Given the description of an element on the screen output the (x, y) to click on. 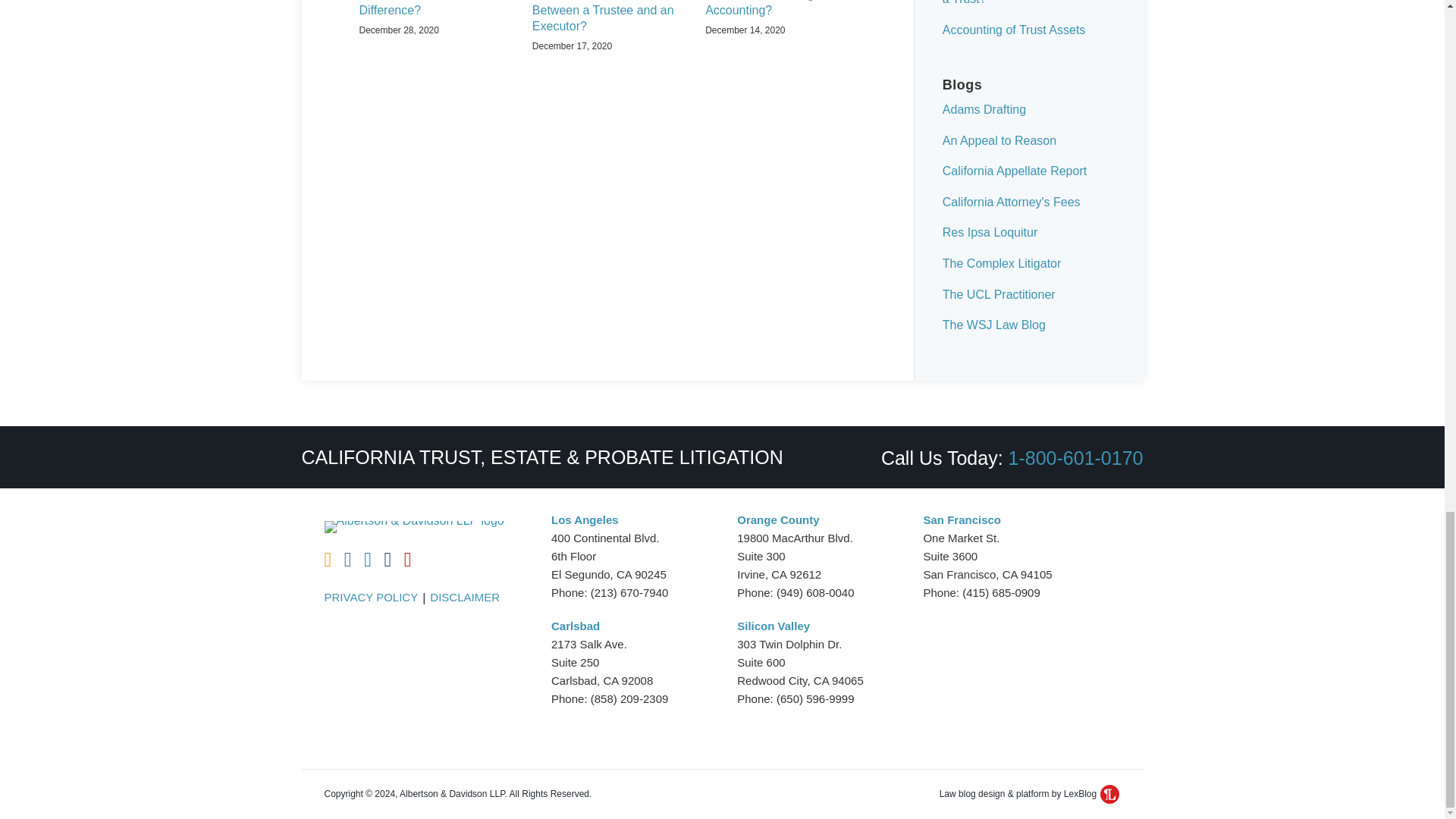
What is the Difference Between a Trustee and an Executor? (607, 17)
LexBlog Logo (1109, 793)
Can Trustees Charge for an Accounting? (780, 9)
Trust vs. Will: What is the Difference? (434, 9)
